Given the description of an element on the screen output the (x, y) to click on. 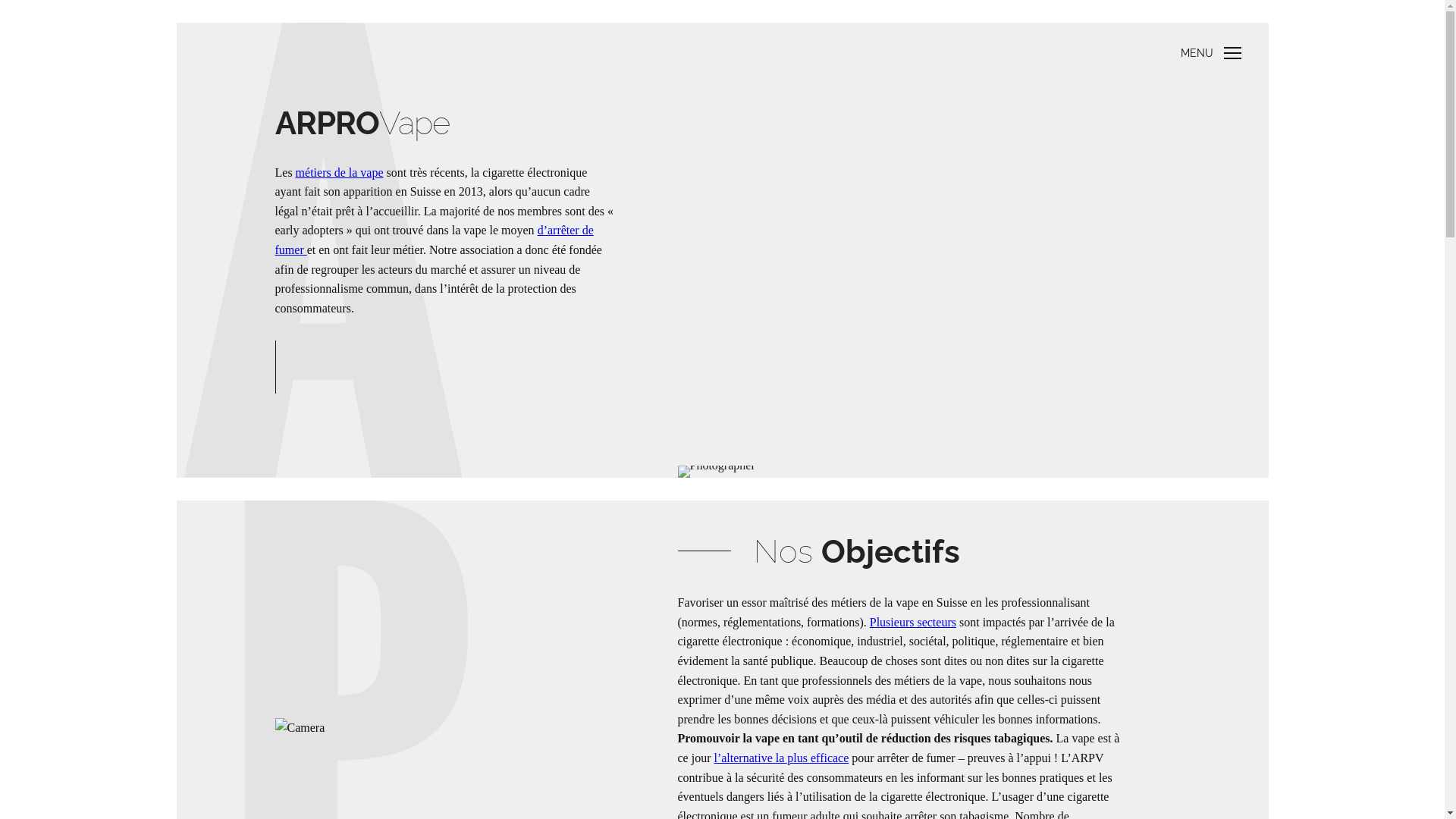
Plusieurs secteurs Element type: text (912, 621)
